Given the description of an element on the screen output the (x, y) to click on. 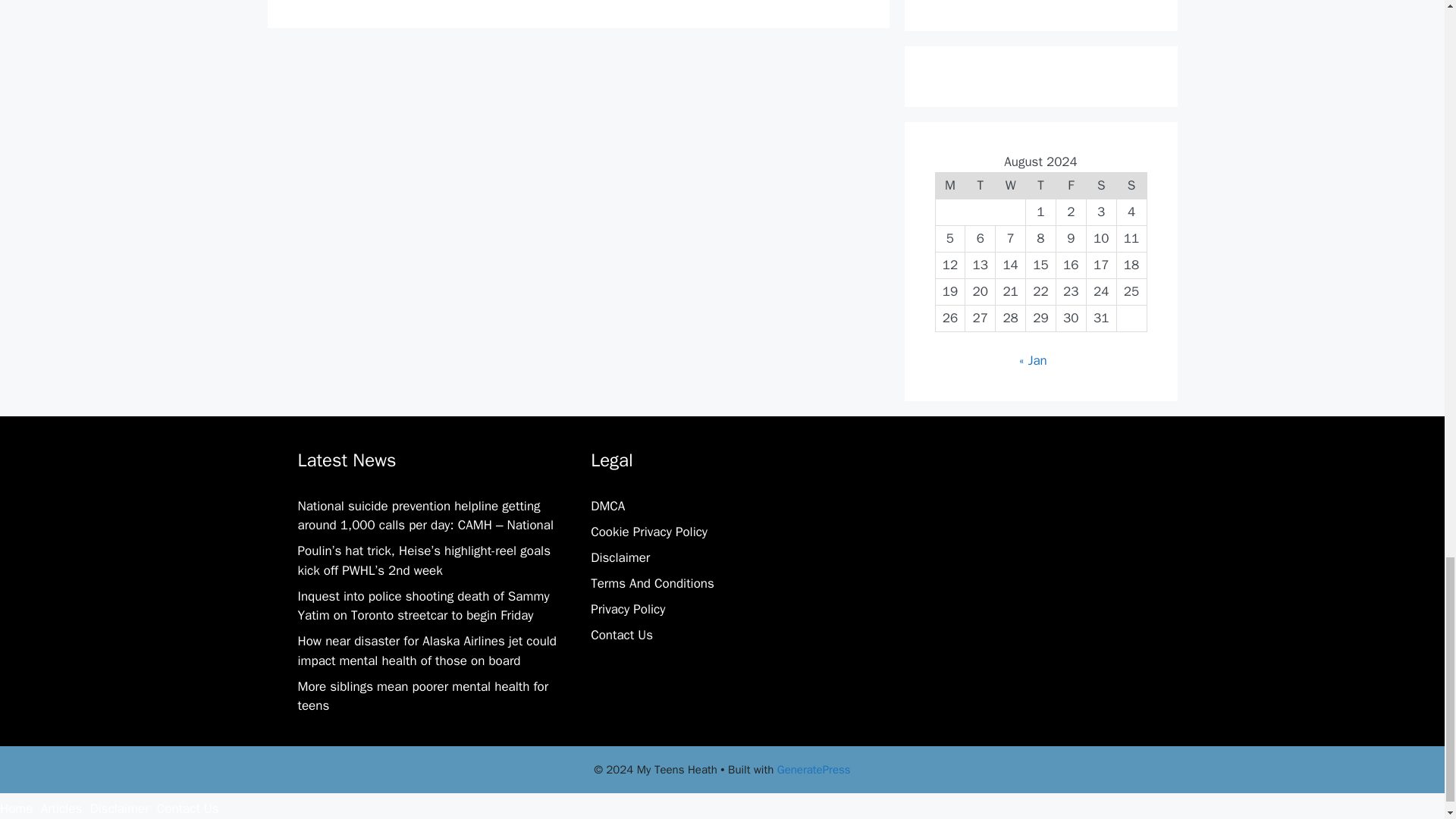
Wednesday (1010, 185)
Monday (949, 185)
Tuesday (980, 185)
Friday (1070, 185)
Thursday (1041, 185)
